Given the description of an element on the screen output the (x, y) to click on. 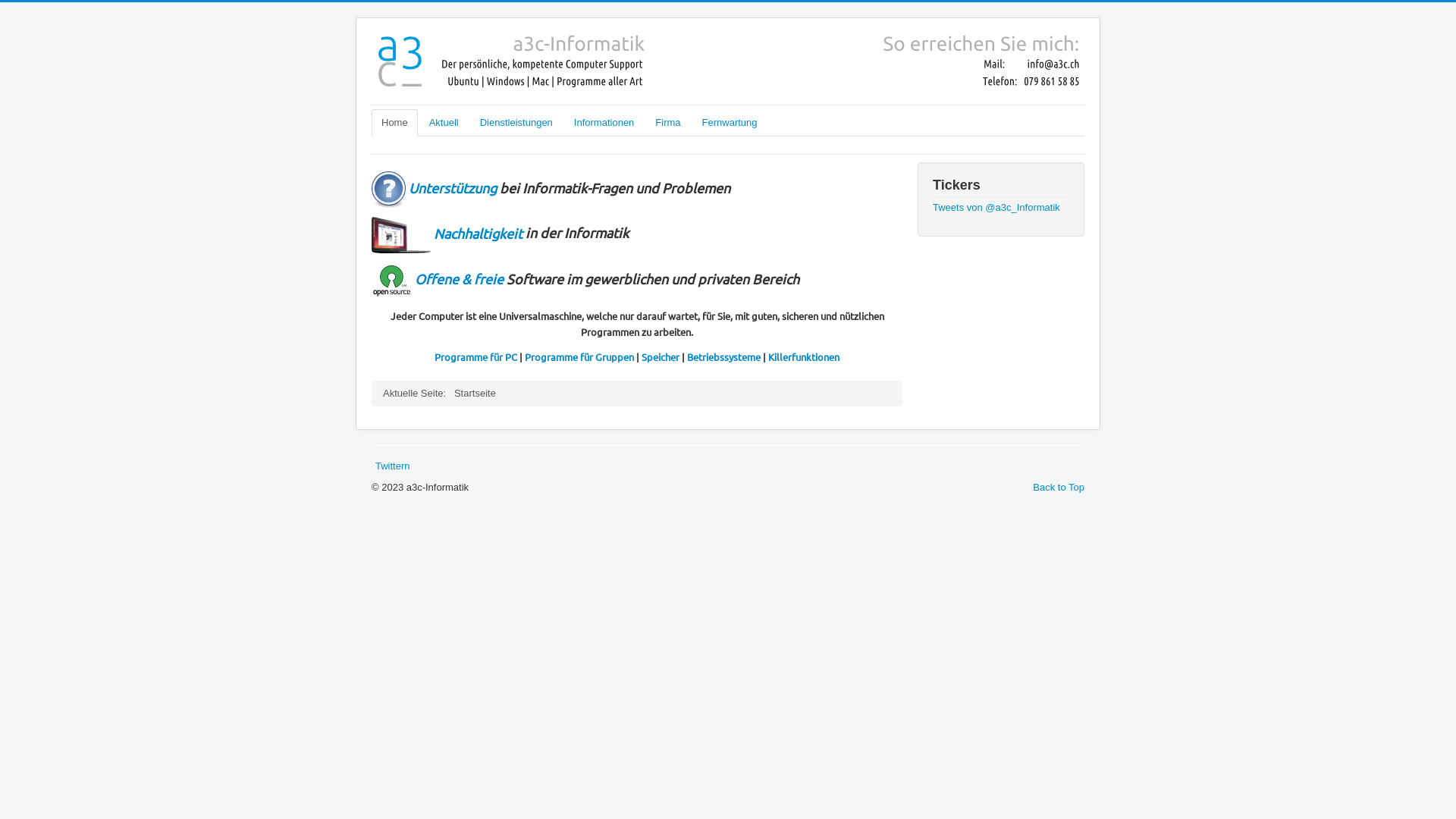
Tweets von @a3c_Informatik Element type: text (996, 207)
Speicher Element type: text (660, 356)
Offene & freie Element type: text (458, 277)
Betriebssysteme Element type: text (723, 356)
Home Element type: text (394, 122)
Nachhaltigkeit Element type: text (446, 233)
Back to Top Element type: text (1058, 486)
Twittern Element type: text (392, 465)
Aktuell Element type: text (443, 122)
Dienstleistungen Element type: text (516, 122)
Fernwartung Element type: text (729, 122)
Informationen Element type: text (604, 122)
Killerfunktionen Element type: text (803, 356)
Firma Element type: text (667, 122)
